Given the description of an element on the screen output the (x, y) to click on. 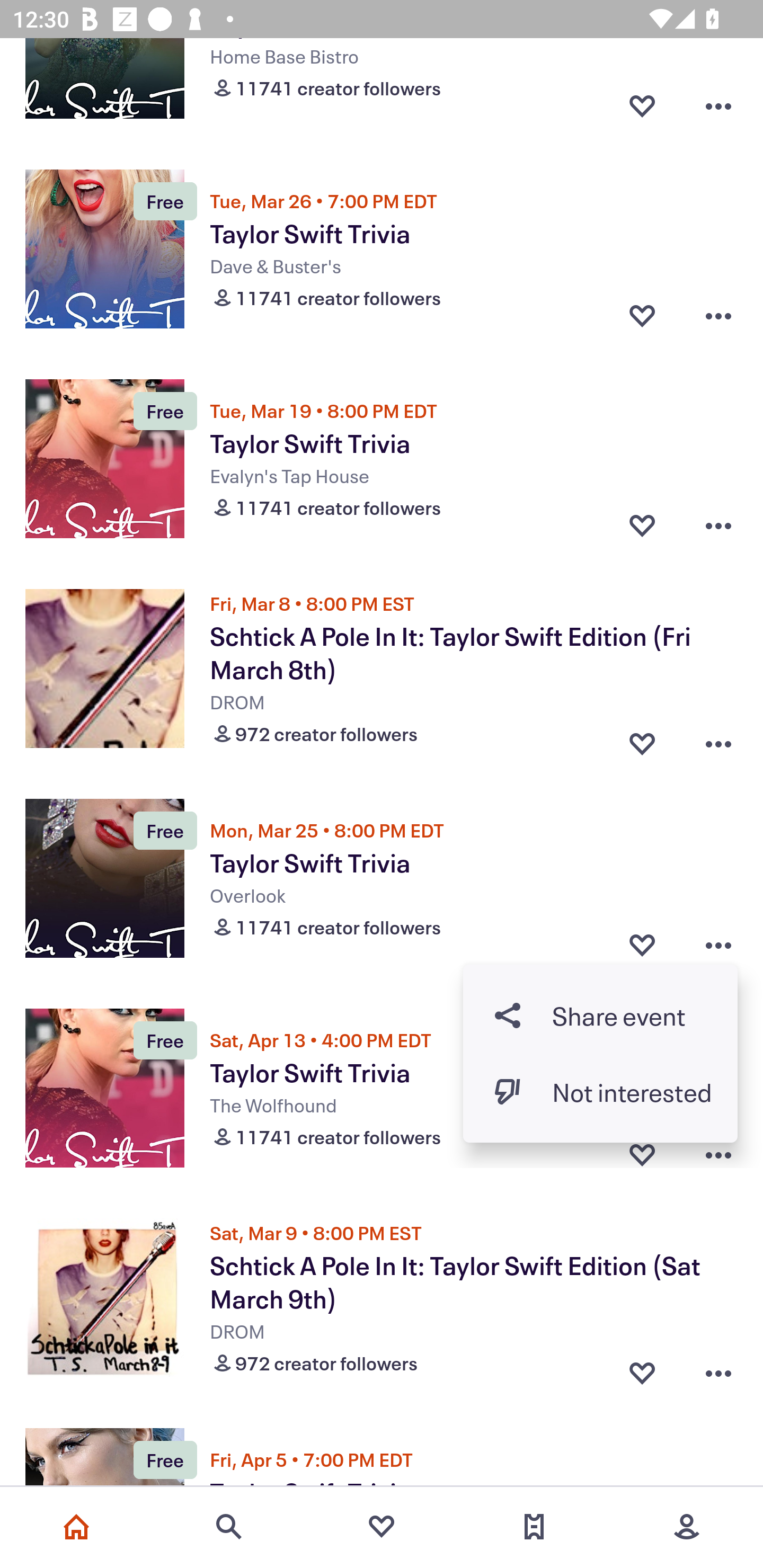
Share button Share event (600, 1014)
Dislike event button Not interested (600, 1091)
